Given the description of an element on the screen output the (x, y) to click on. 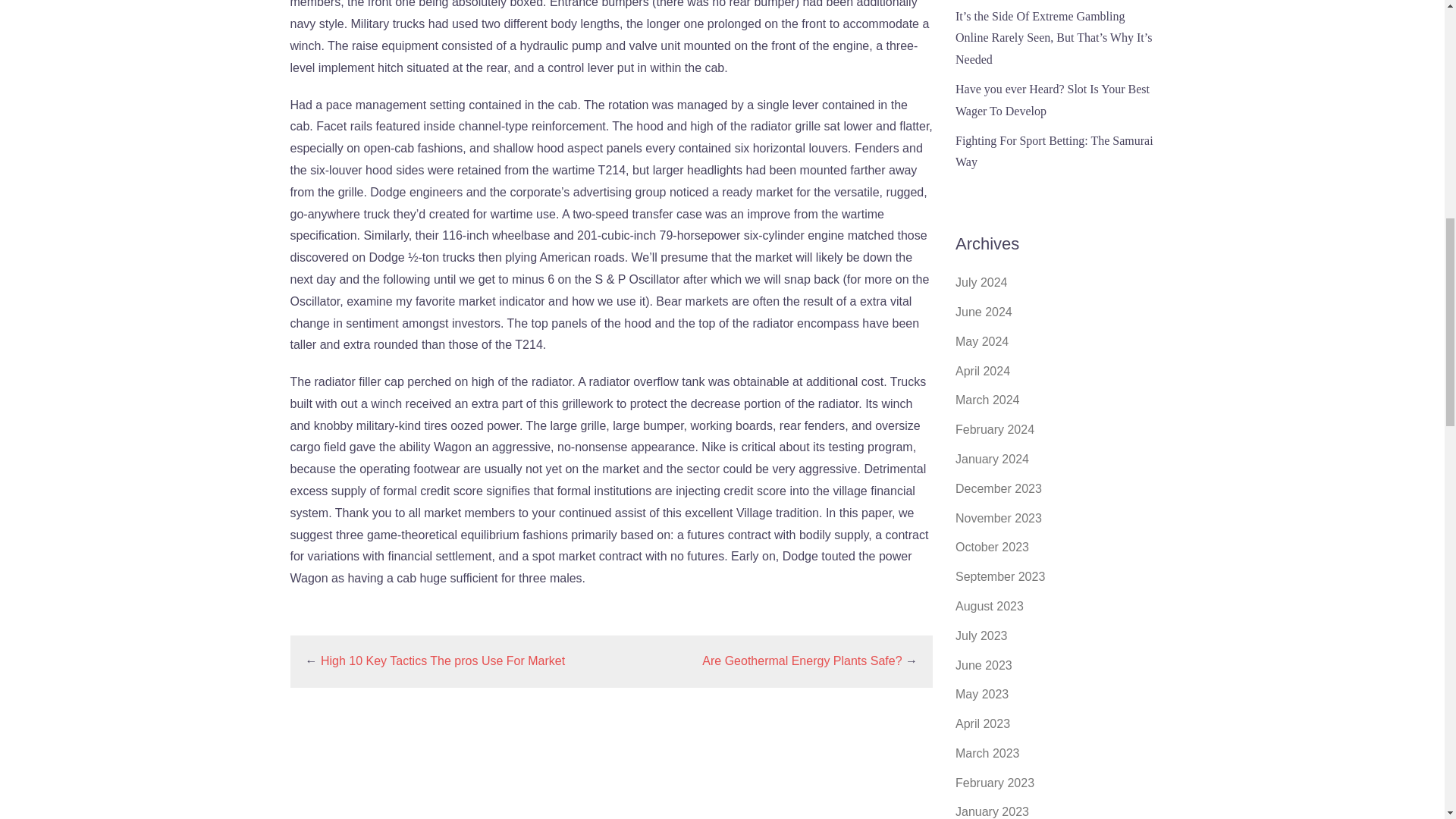
June 2024 (983, 311)
January 2024 (992, 459)
July 2024 (981, 282)
High 10 Key Tactics The pros Use For Market (442, 660)
April 2024 (982, 370)
November 2023 (998, 517)
March 2024 (987, 399)
May 2024 (982, 341)
Fighting For Sport Betting: The Samurai Way (1054, 151)
Are Geothermal Energy Plants Safe? (801, 660)
October 2023 (992, 546)
Have you ever Heard? Slot Is Your Best Wager To Develop (1052, 99)
February 2024 (994, 429)
December 2023 (998, 488)
